Given the description of an element on the screen output the (x, y) to click on. 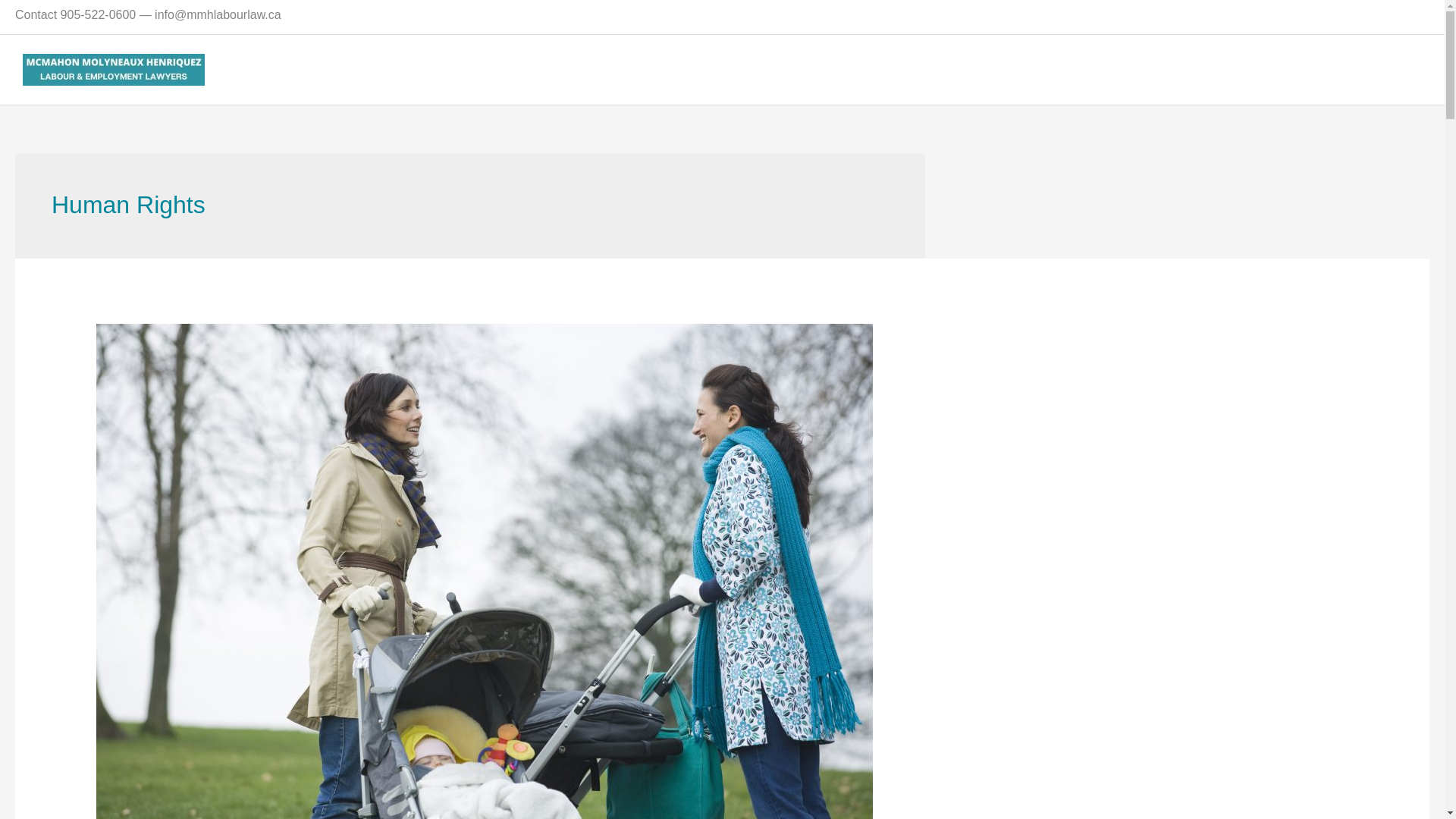
Practice Areas (1188, 69)
Home (1030, 69)
Contact (1394, 69)
Media (1329, 69)
About (1094, 69)
Blog (1274, 69)
